Given the description of an element on the screen output the (x, y) to click on. 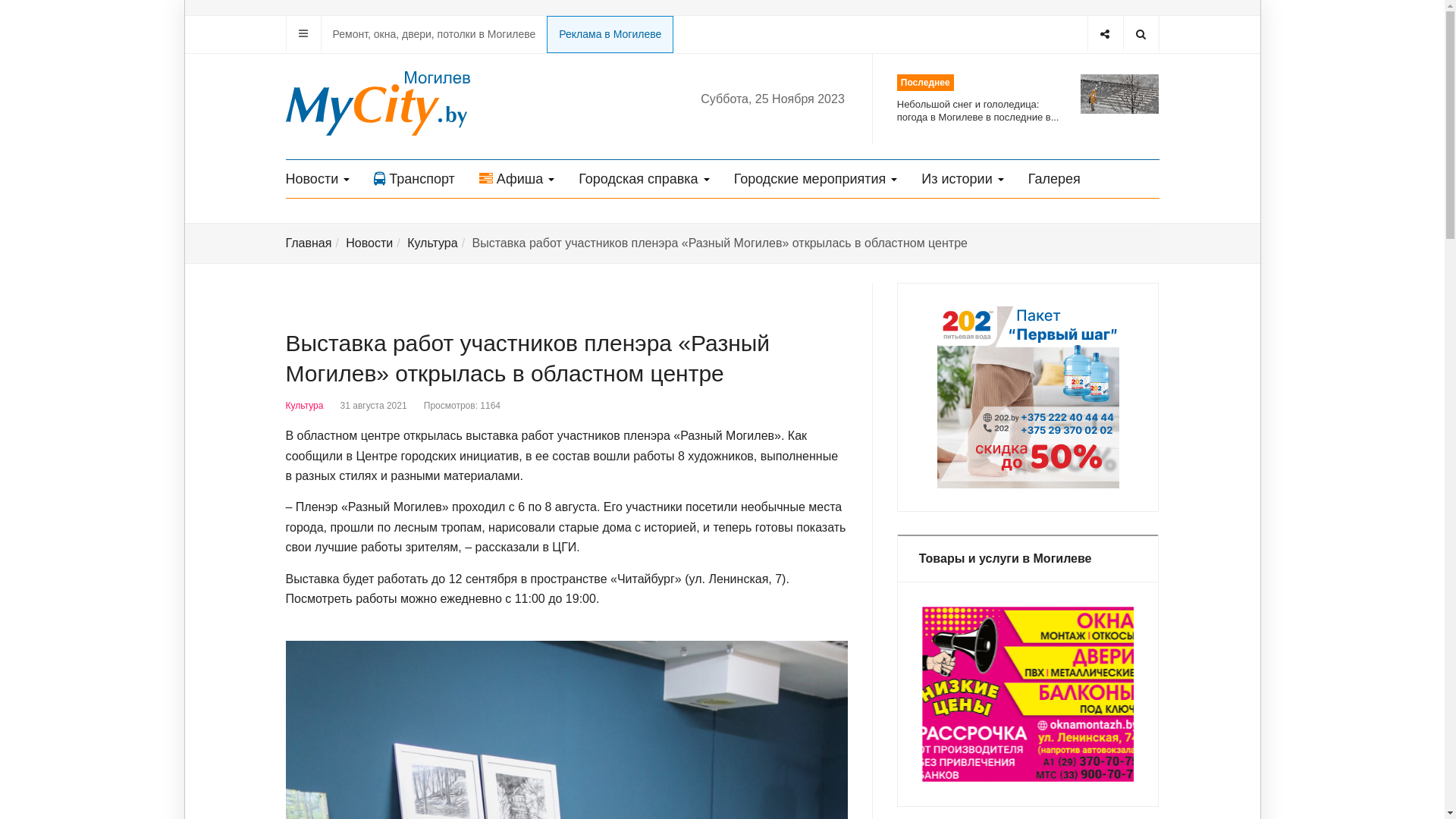
open Element type: hover (302, 33)
202-nov23-pervyi_shag Element type: hover (1028, 396)
